Given the description of an element on the screen output the (x, y) to click on. 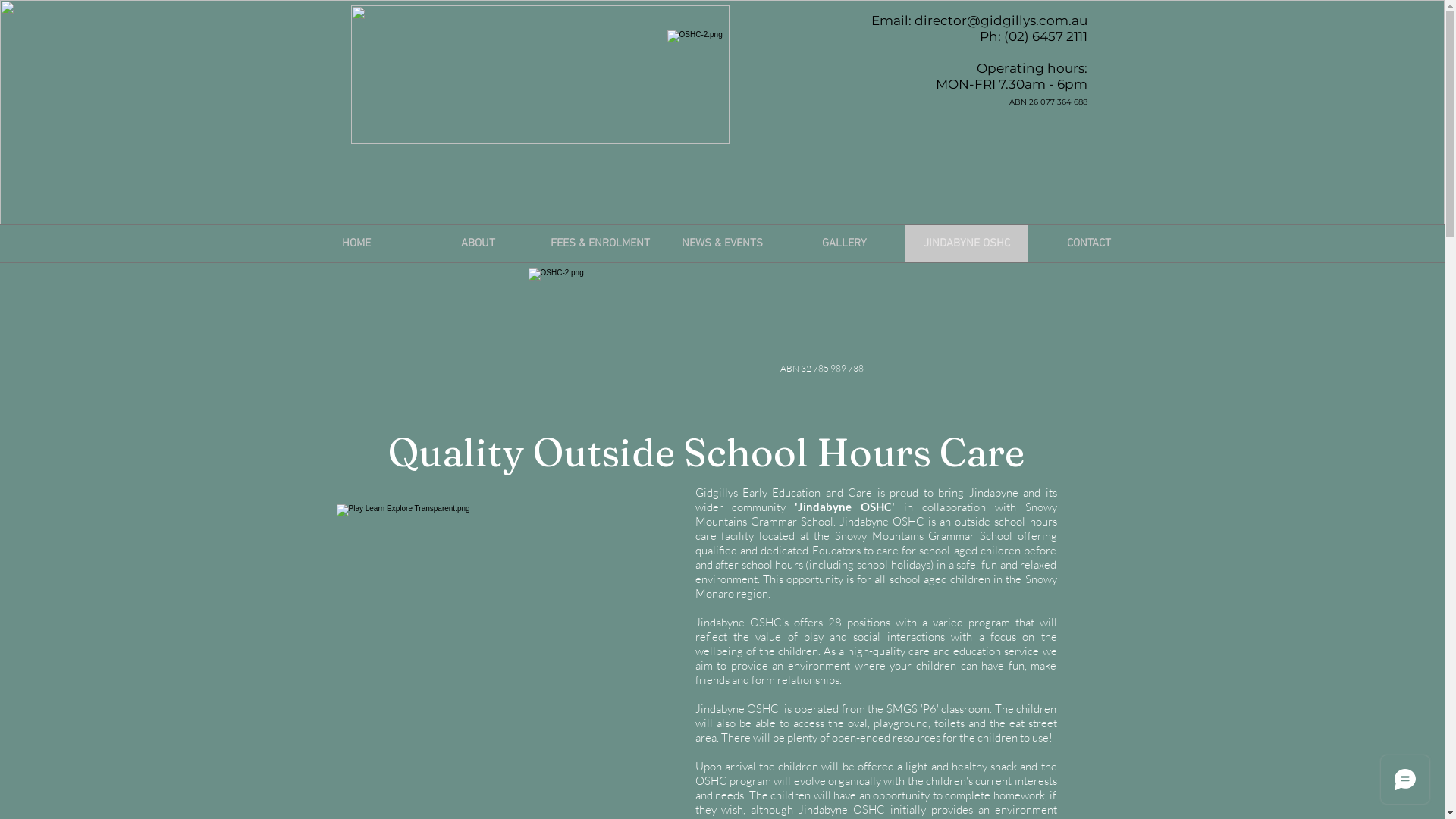
NEWS & EVENTS Element type: text (722, 243)
GALLERY Element type: text (844, 243)
ABOUT Element type: text (478, 243)
HOME Element type: text (355, 243)
CONTACT Element type: text (1088, 243)
director@gidgillys.com.au Element type: text (1000, 20)
FEES & ENROLMENT Element type: text (600, 243)
Mixed Logo.png Element type: hover (539, 74)
JINDABYNE OSHC Element type: text (966, 243)
